Given the description of an element on the screen output the (x, y) to click on. 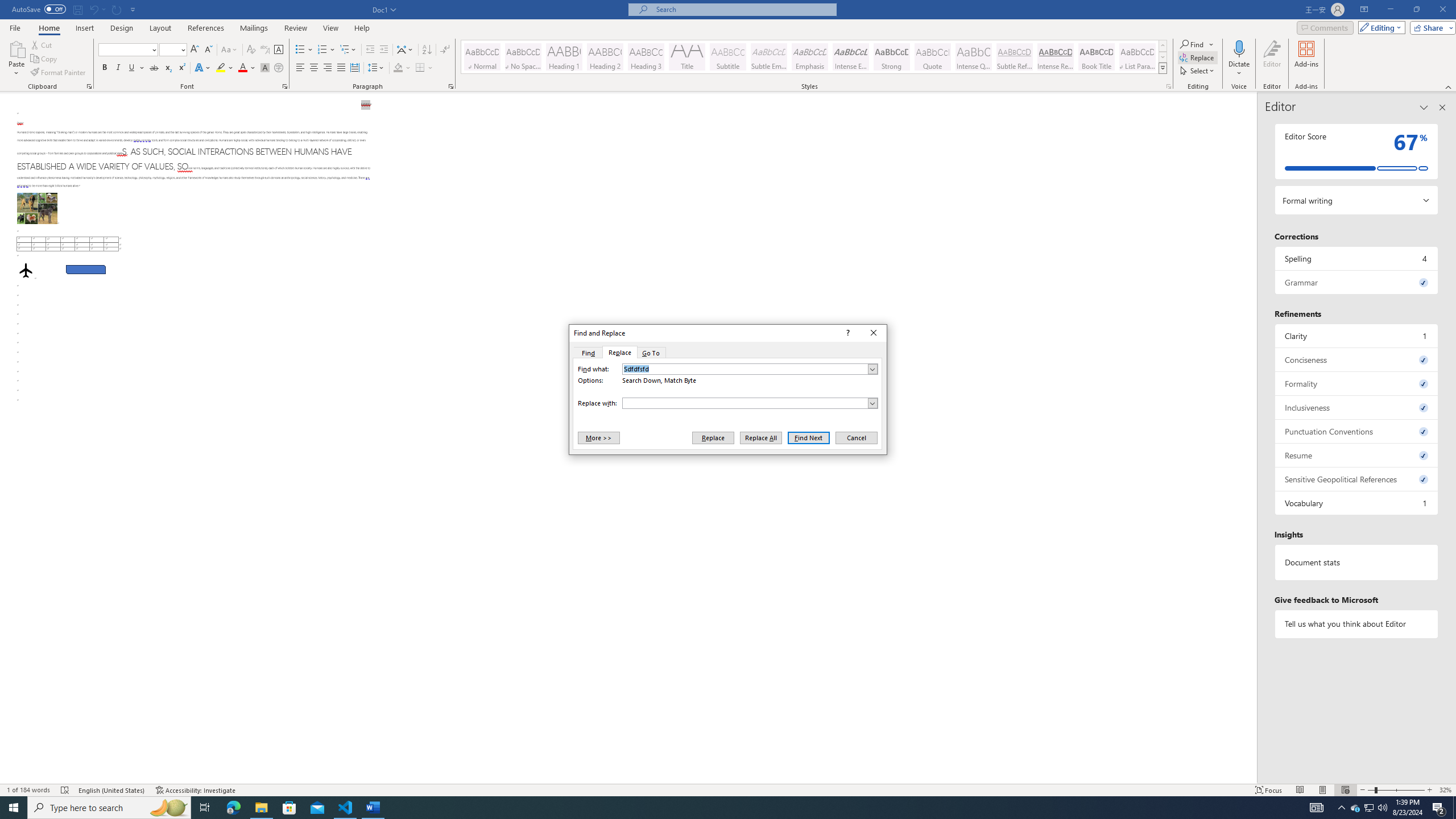
Undo Paragraph Alignment (92, 9)
Find Next (808, 437)
Repeat Paragraph Alignment (117, 9)
Subtle Reference (1014, 56)
Intense Emphasis (849, 56)
Replace All (761, 437)
